Given the description of an element on the screen output the (x, y) to click on. 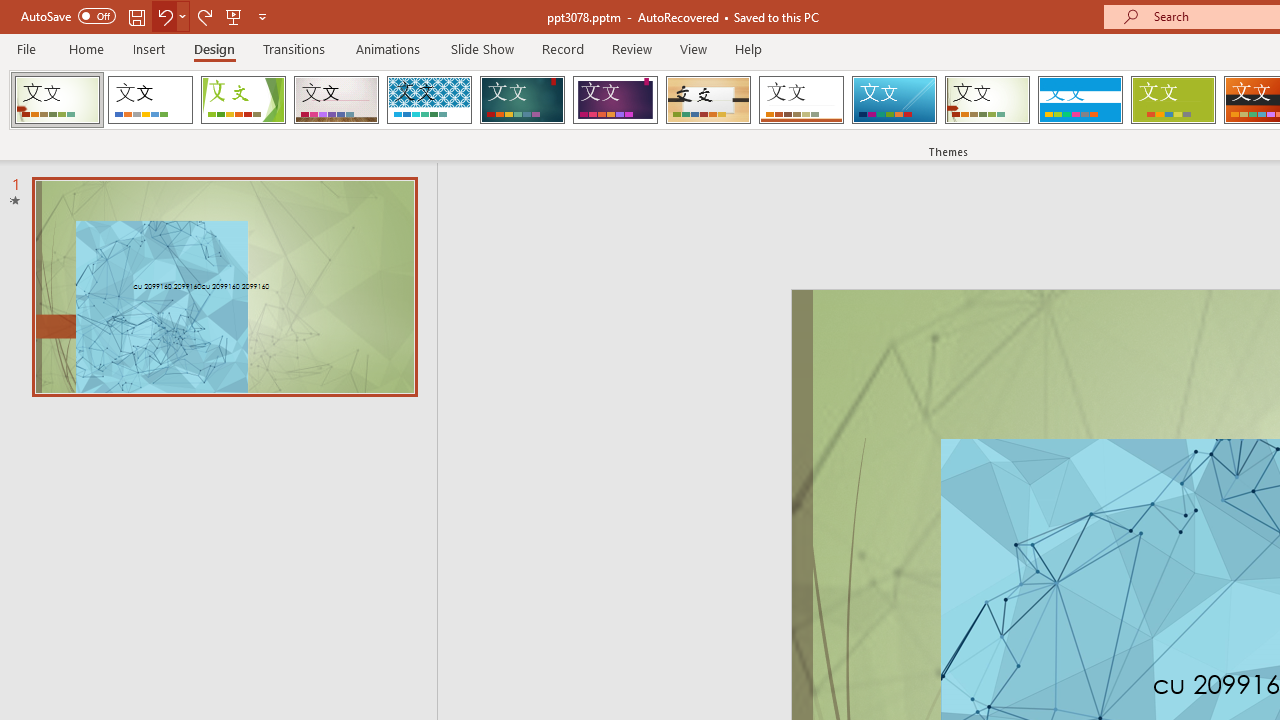
Basis (1172, 100)
